Given the description of an element on the screen output the (x, y) to click on. 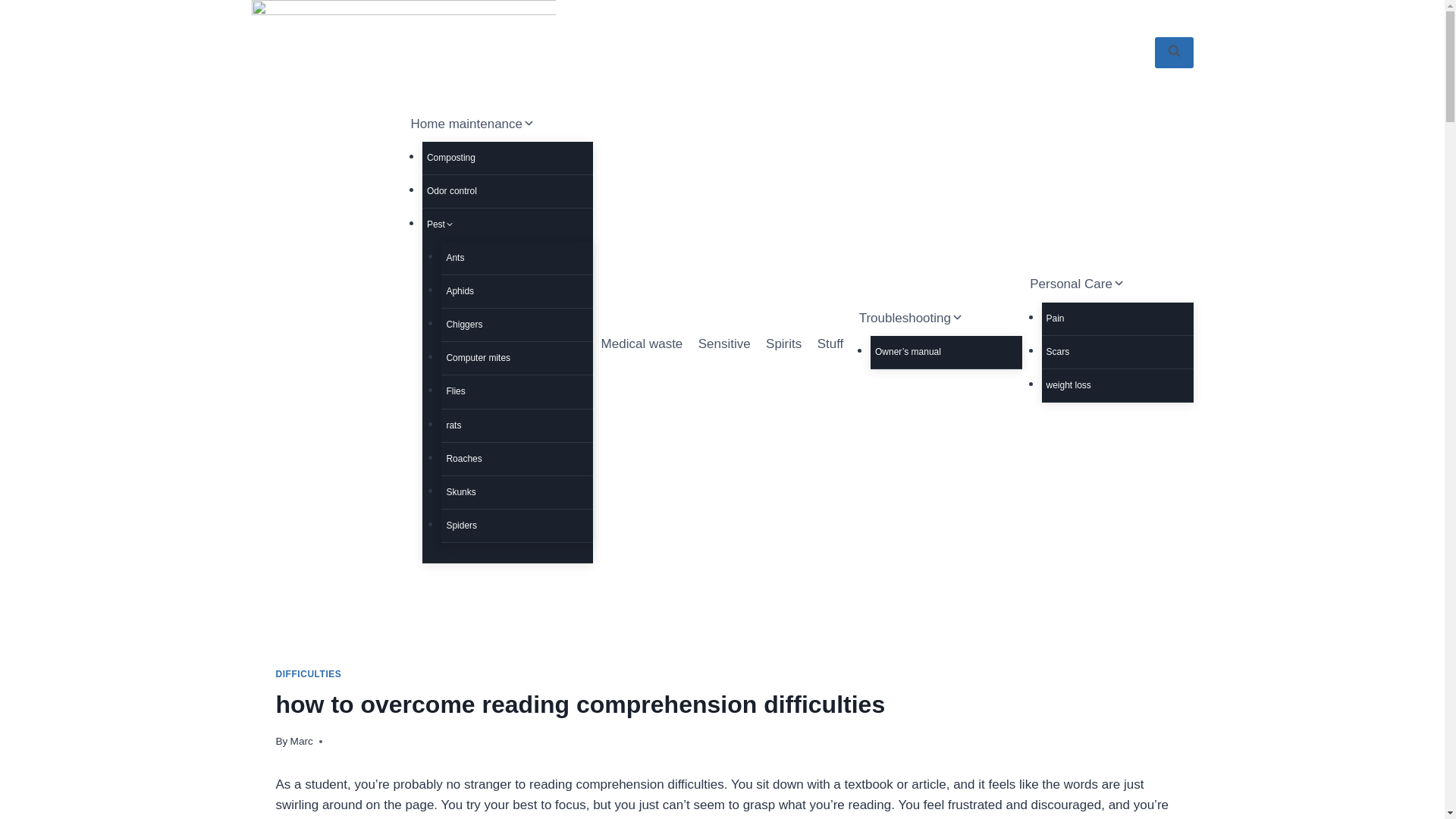
Composting (497, 157)
Aphids (516, 291)
Sensitive (723, 343)
Skunks (516, 491)
Marc (301, 740)
Pest (497, 224)
DIFFICULTIES (309, 674)
Scars (1117, 351)
Troubleshooting (936, 317)
Spirits (783, 343)
Flies (516, 391)
Roaches (516, 459)
Medical waste (641, 343)
weight loss (1117, 385)
Stuff (829, 343)
